Given the description of an element on the screen output the (x, y) to click on. 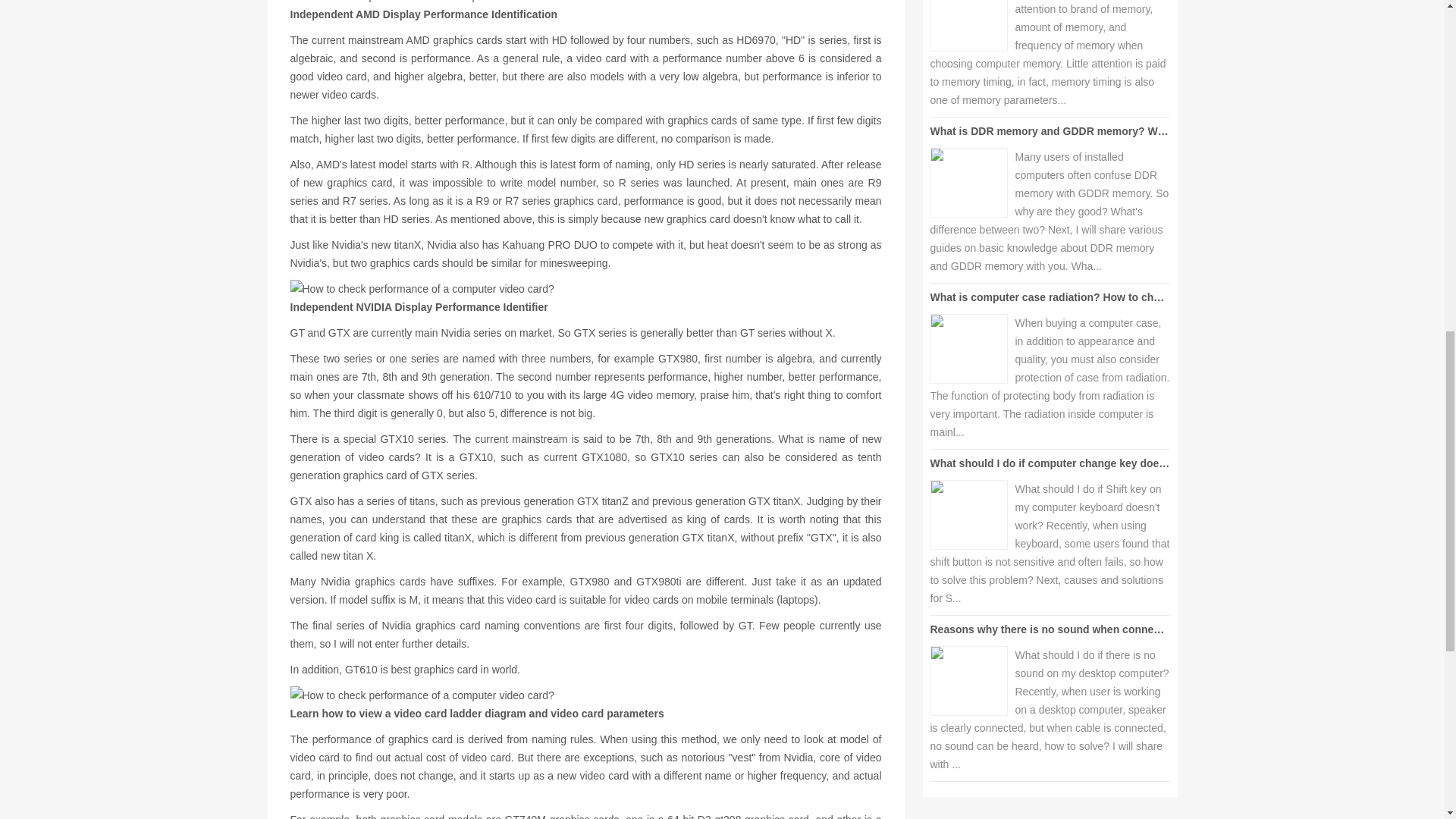
What is DDR memory and GDDR memory? What is difference? (1087, 131)
